Given the description of an element on the screen output the (x, y) to click on. 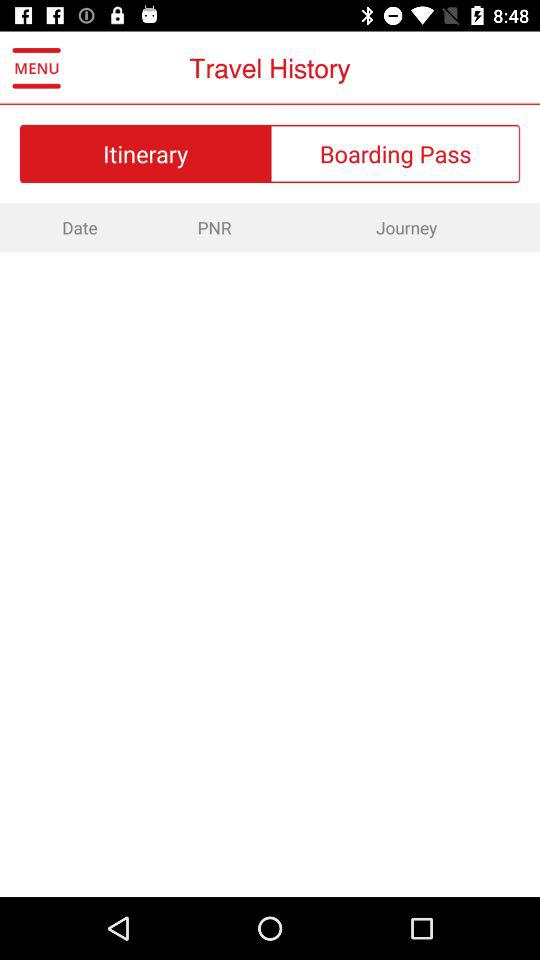
tap icon to the right of the pnr (406, 227)
